Given the description of an element on the screen output the (x, y) to click on. 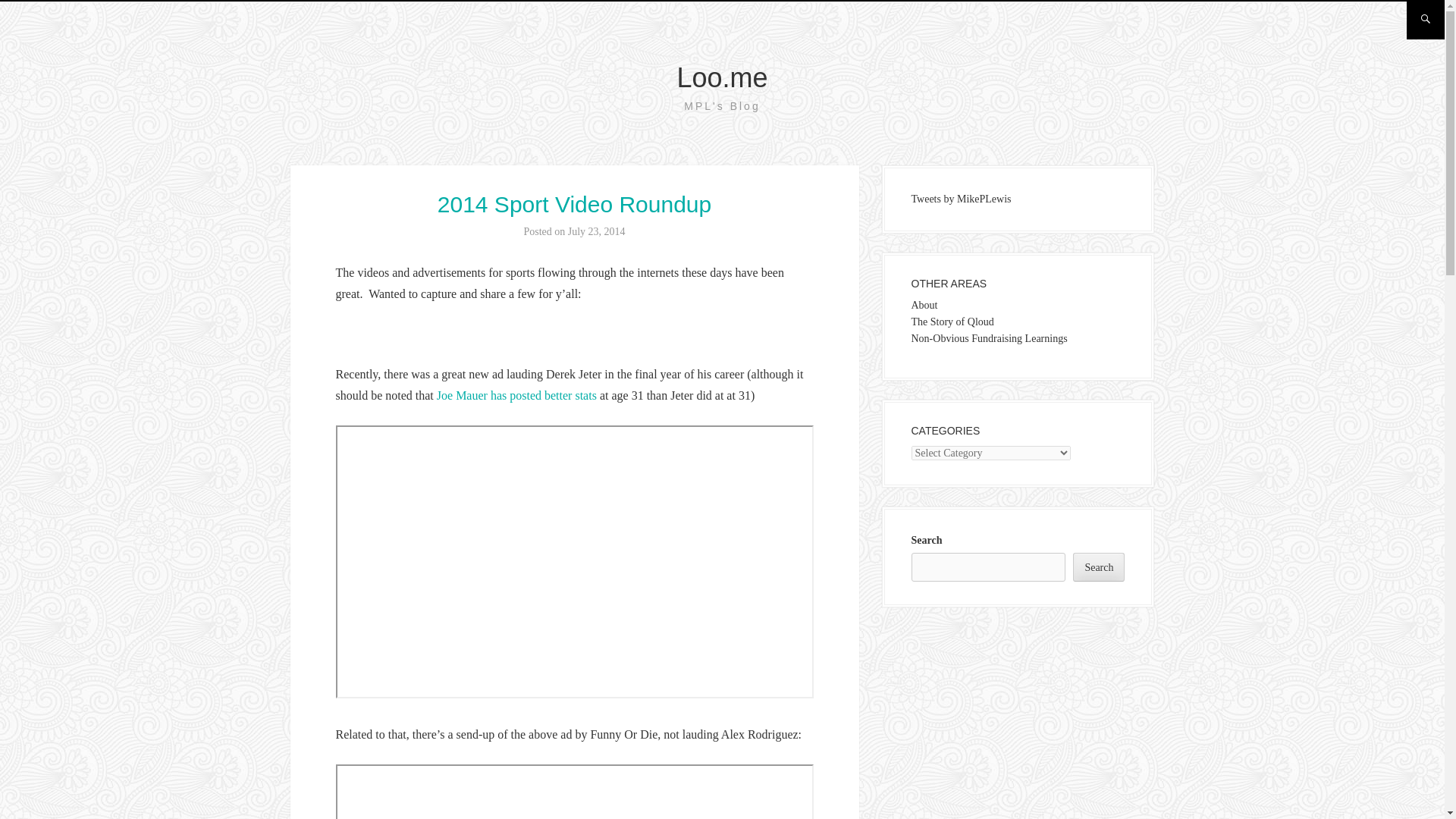
Tweets by MikePLewis (961, 198)
Joe Mauer has posted better stats (516, 395)
July 23, 2014 (596, 231)
2014 Sport Video Roundup (574, 204)
The Story of Qloud (952, 321)
Search (1098, 566)
Non-Obvious Fundraising Learnings (989, 337)
About (924, 305)
Loo.me (722, 77)
